Given the description of an element on the screen output the (x, y) to click on. 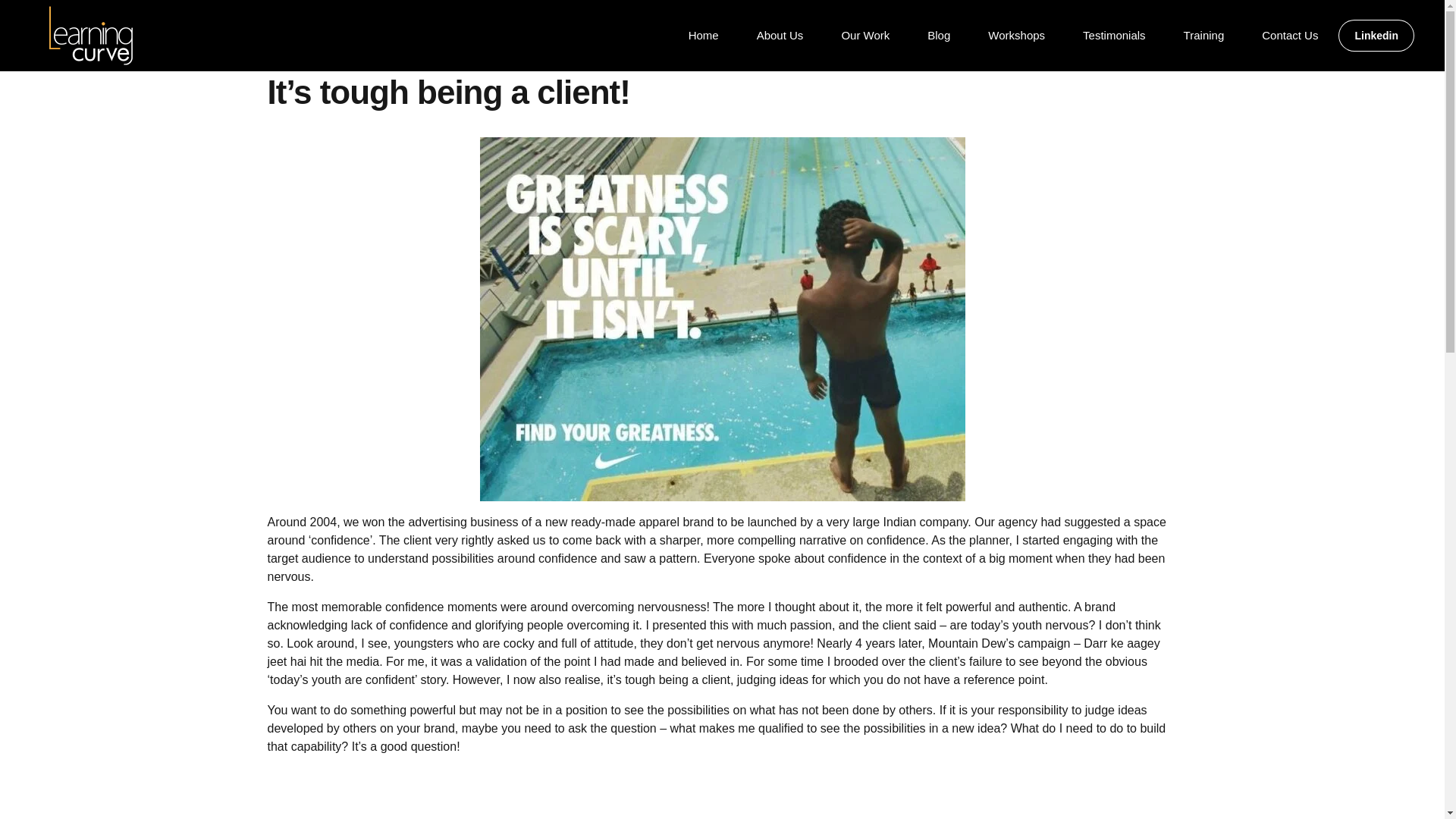
Blog (938, 35)
Our Work (864, 35)
Linkedin (1375, 35)
Home (702, 35)
About Us (779, 35)
Training (1204, 35)
Workshops (1015, 35)
Contact Us (1289, 35)
Testimonials (1113, 35)
